Given the description of an element on the screen output the (x, y) to click on. 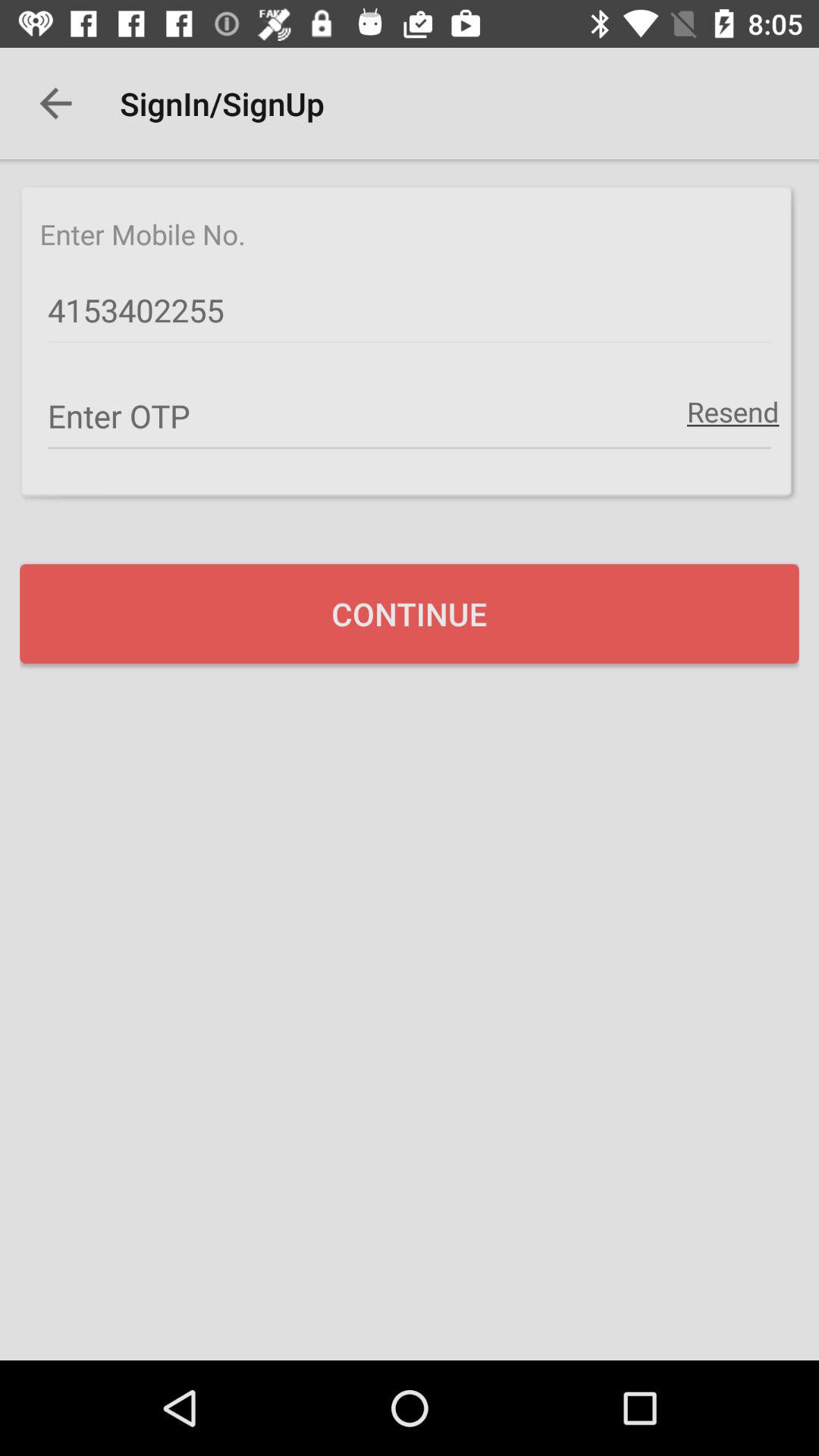
select icon at the center (409, 613)
